Given the description of an element on the screen output the (x, y) to click on. 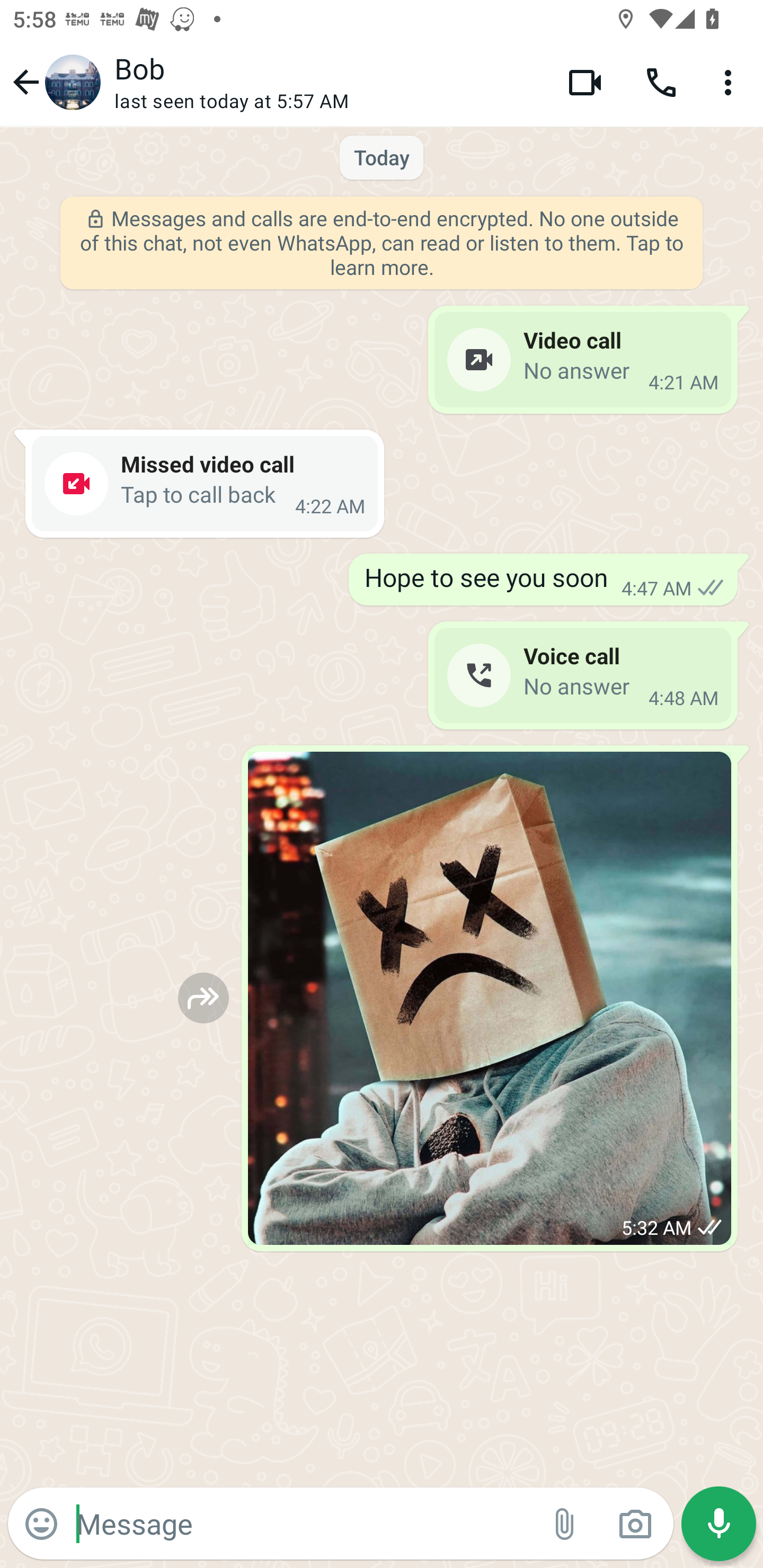
Bob last seen today at 5:57 AM (327, 82)
Navigate up (54, 82)
Video call (585, 81)
Voice call (661, 81)
More options (731, 81)
View photo (488, 997)
Forward to… (202, 997)
Emoji (41, 1523)
Attach (565, 1523)
Camera (634, 1523)
Message (303, 1523)
